Given the description of an element on the screen output the (x, y) to click on. 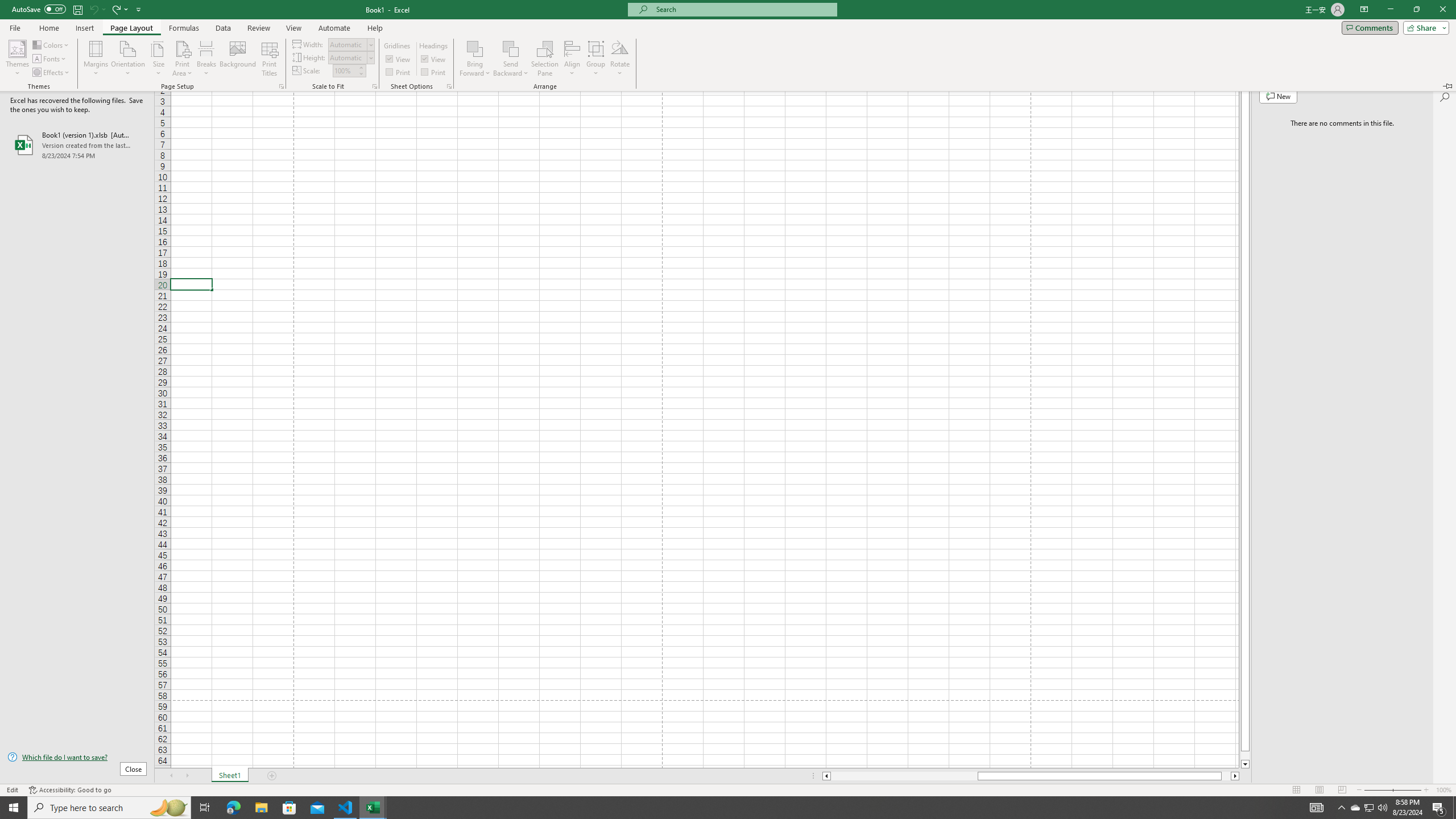
File Explorer (261, 807)
Task View (204, 807)
Action Center, 5 new notifications (1439, 807)
Type here to search (108, 807)
Notification Chevron (1341, 807)
